Given the description of an element on the screen output the (x, y) to click on. 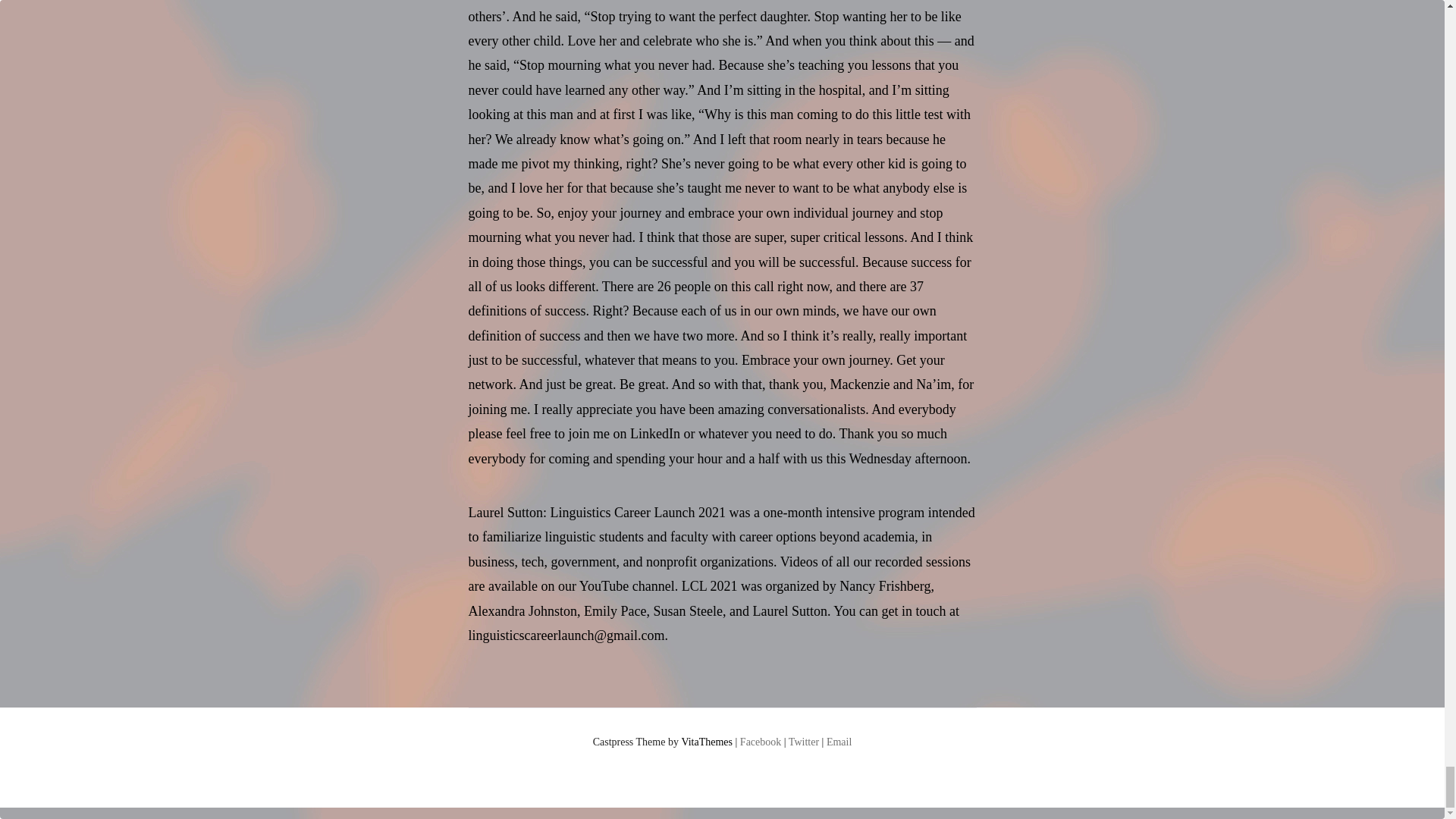
Facebook (759, 741)
VitaThemes (706, 741)
Email (839, 741)
Twitter (803, 741)
